Given the description of an element on the screen output the (x, y) to click on. 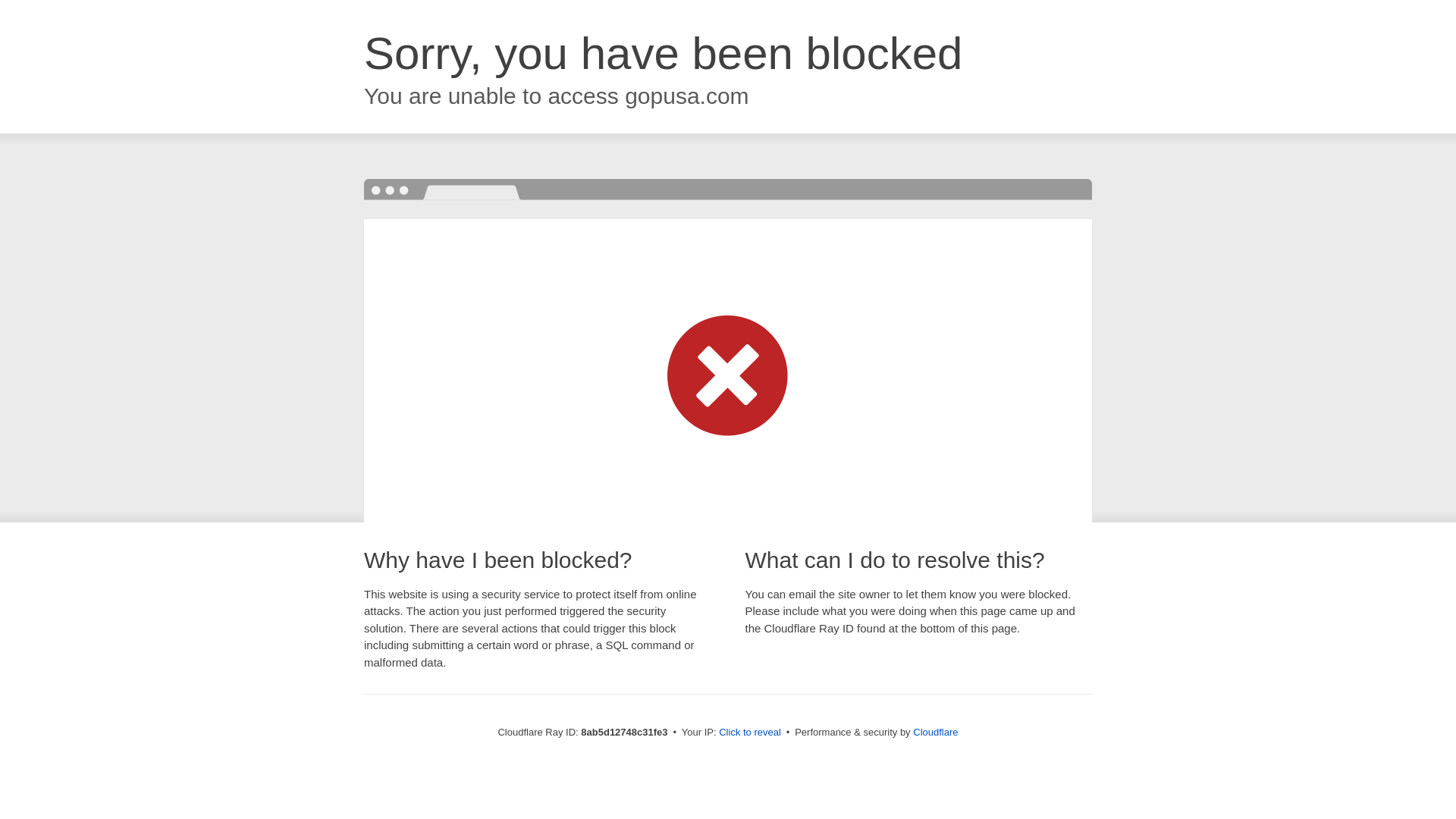
Cloudflare (935, 731)
Click to reveal (749, 732)
